Given the description of an element on the screen output the (x, y) to click on. 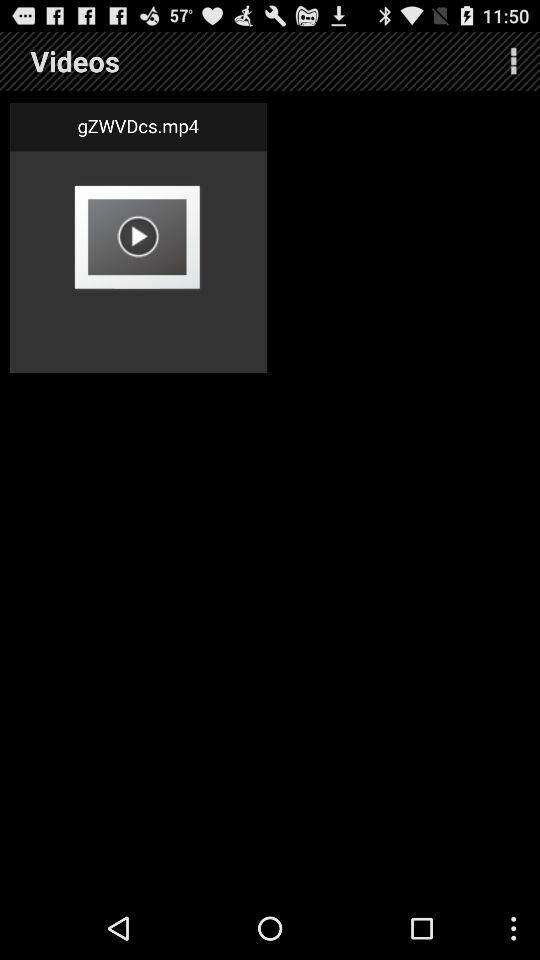
scroll to gzwvdcs.mp4 item (138, 125)
